Given the description of an element on the screen output the (x, y) to click on. 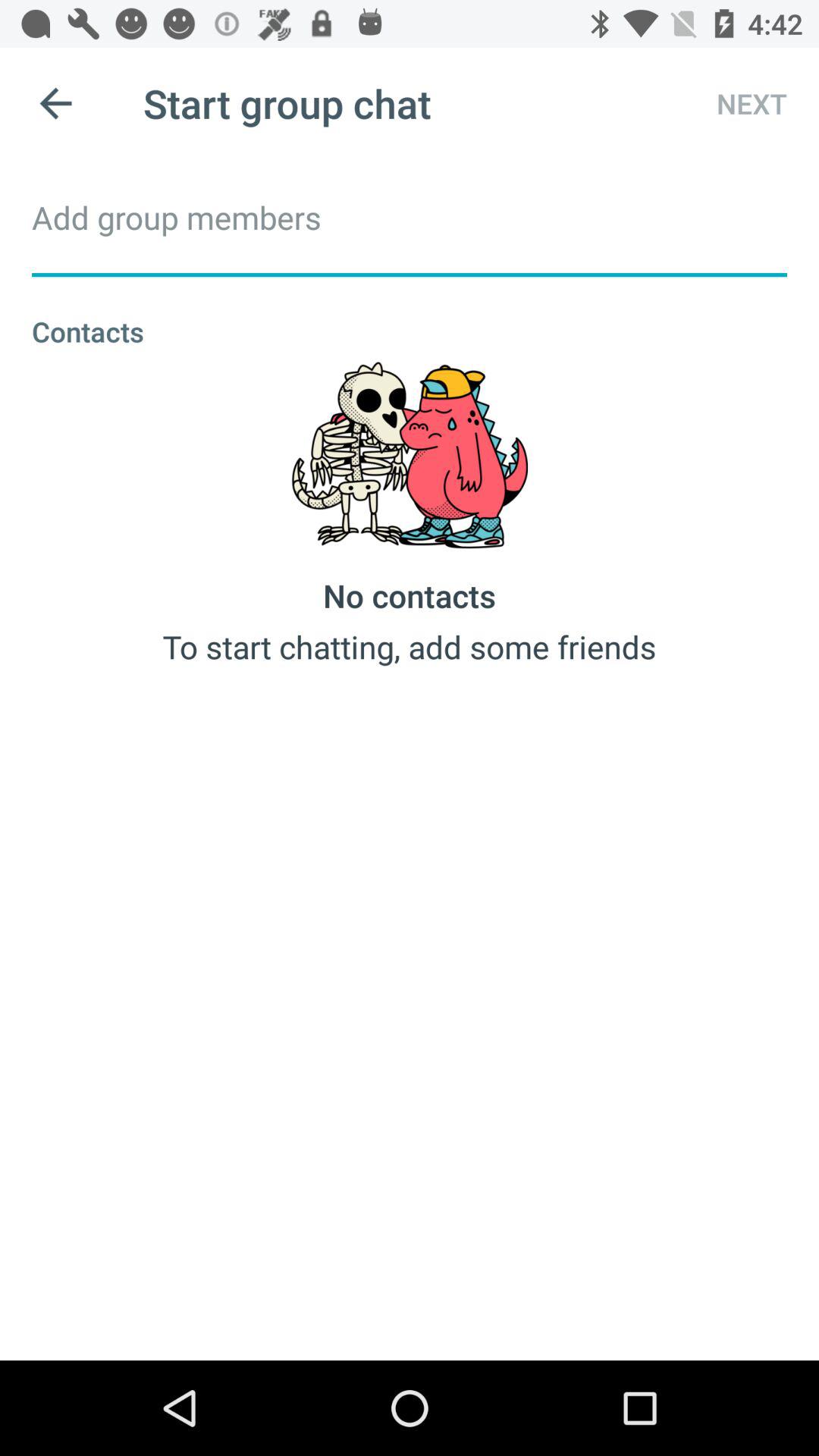
click next icon (737, 103)
